Given the description of an element on the screen output the (x, y) to click on. 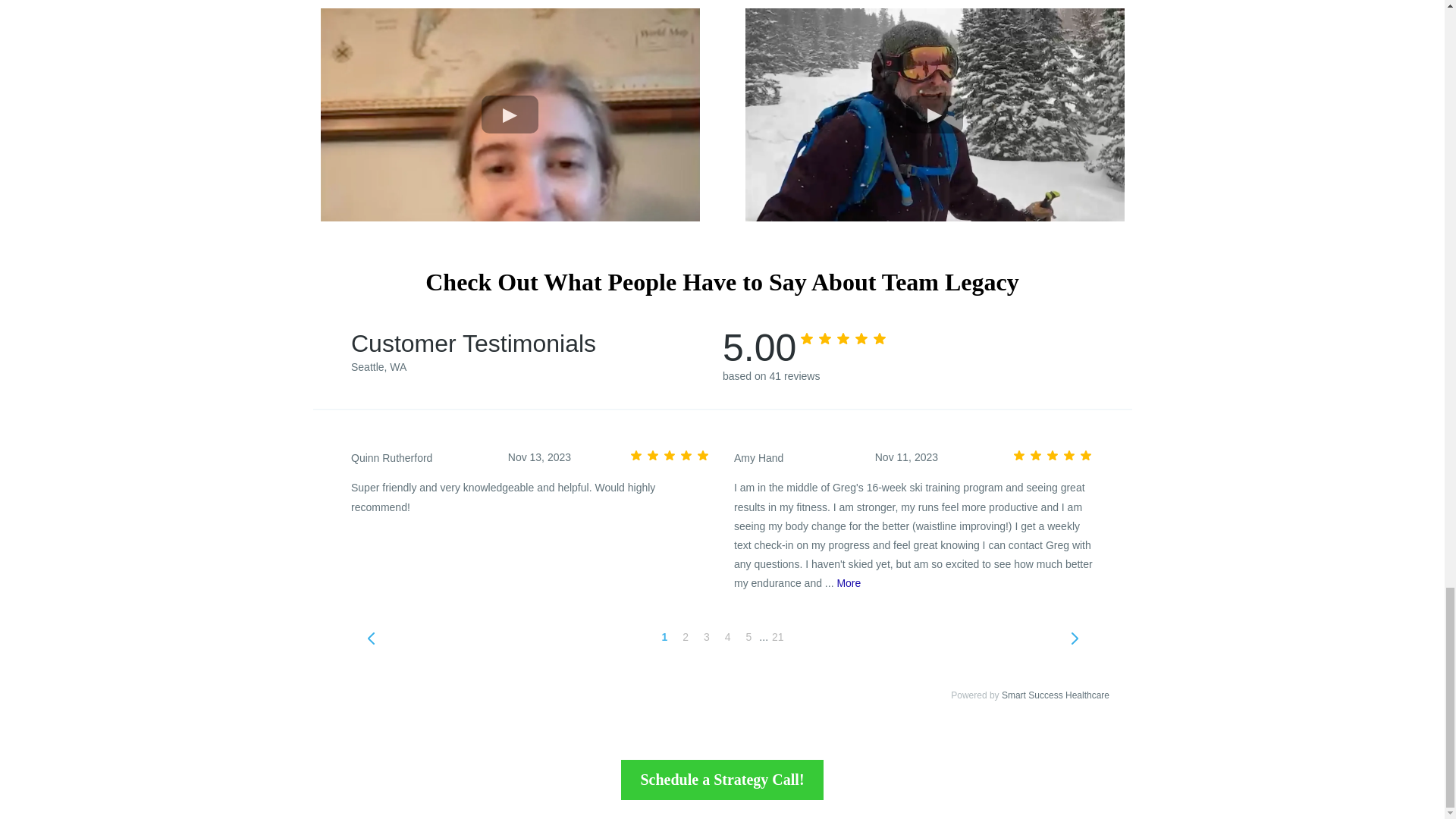
Schedule a Strategy Call! (721, 780)
